Given the description of an element on the screen output the (x, y) to click on. 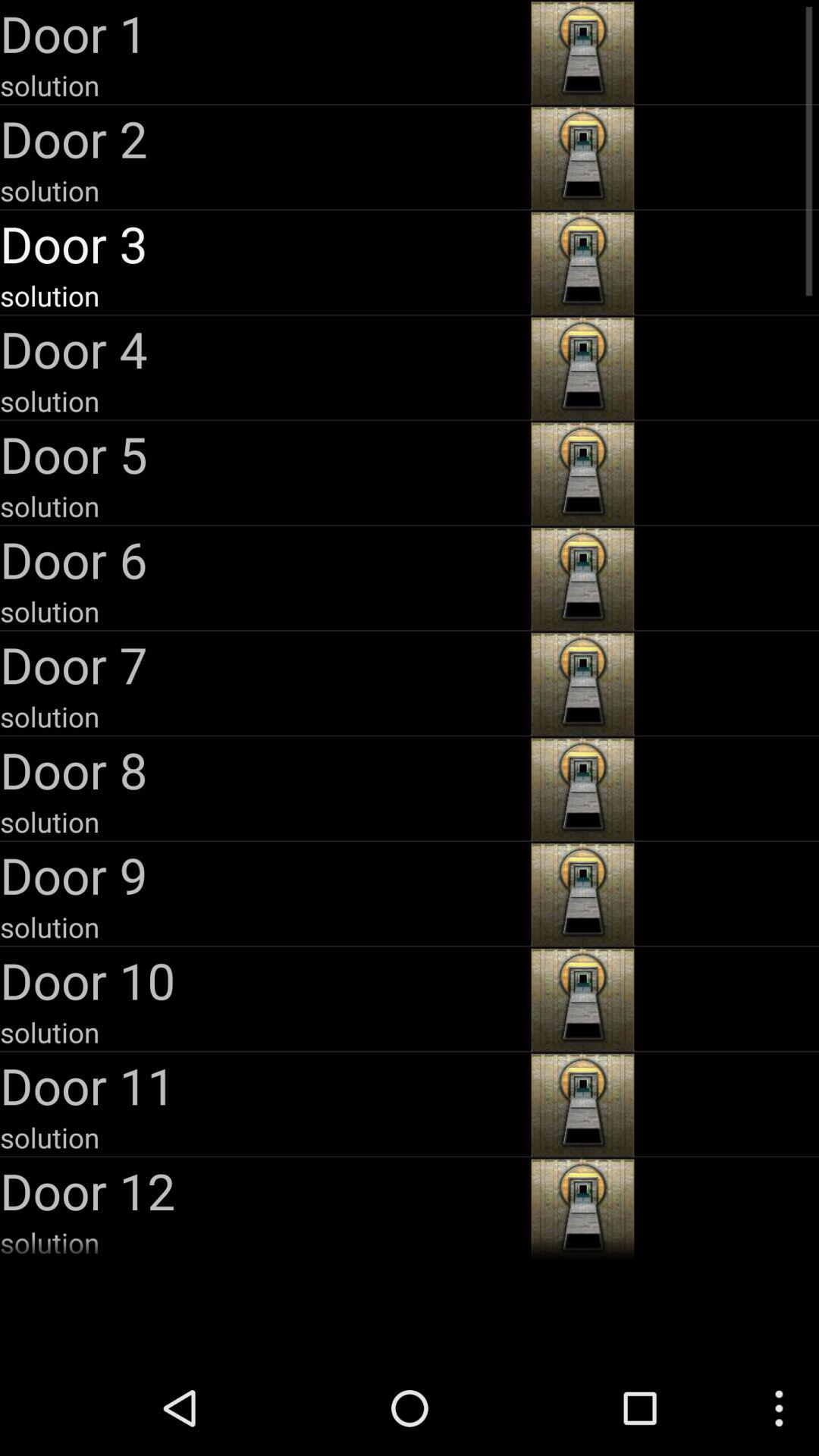
flip until the door 3 app (263, 243)
